Given the description of an element on the screen output the (x, y) to click on. 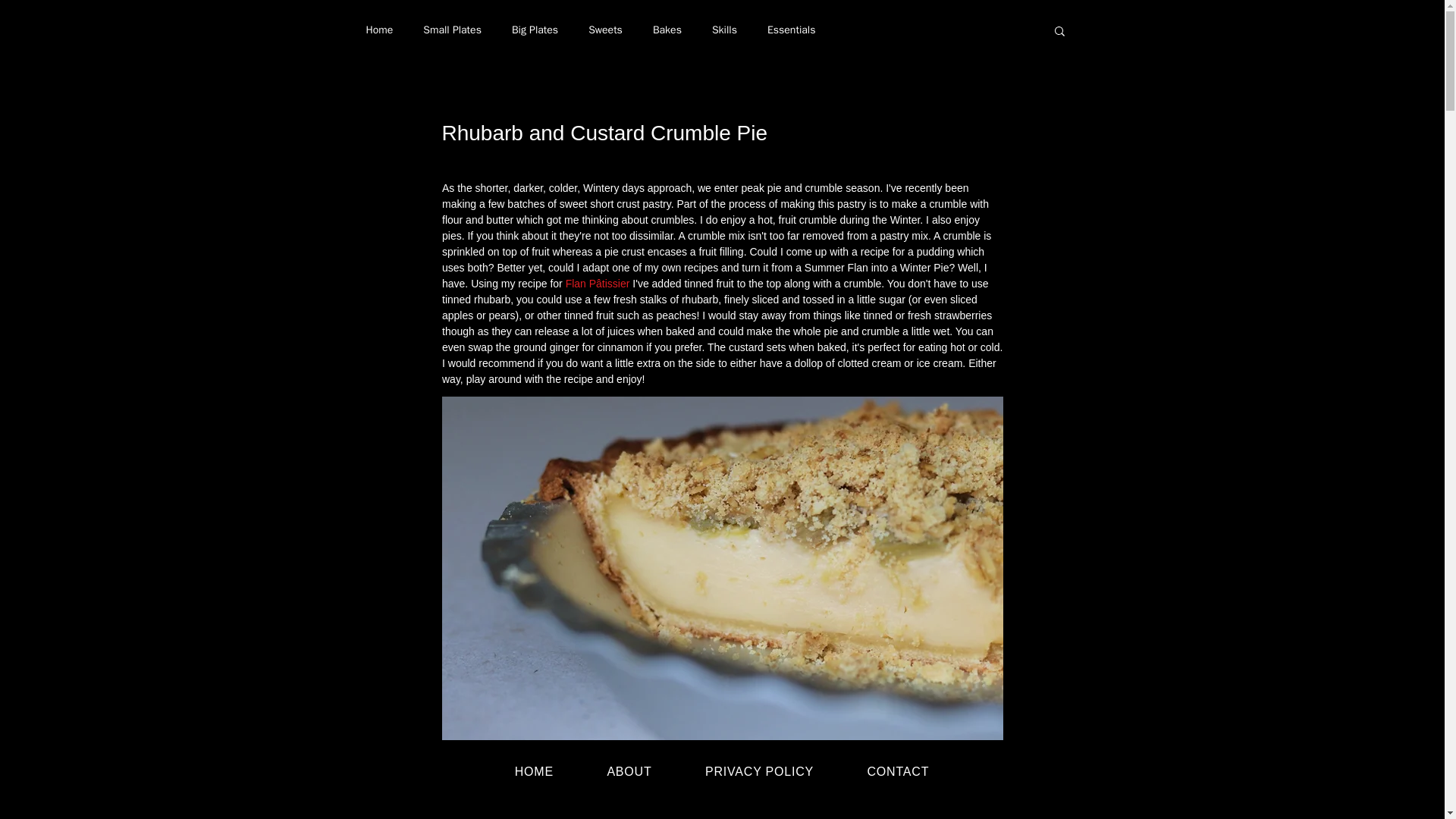
HOME (535, 771)
Bakes (666, 29)
Small Plates (452, 29)
Home (379, 29)
ABOUT (629, 771)
Skills (723, 29)
CONTACT (897, 771)
Essentials (791, 29)
Sweets (605, 29)
Big Plates (534, 29)
